Given the description of an element on the screen output the (x, y) to click on. 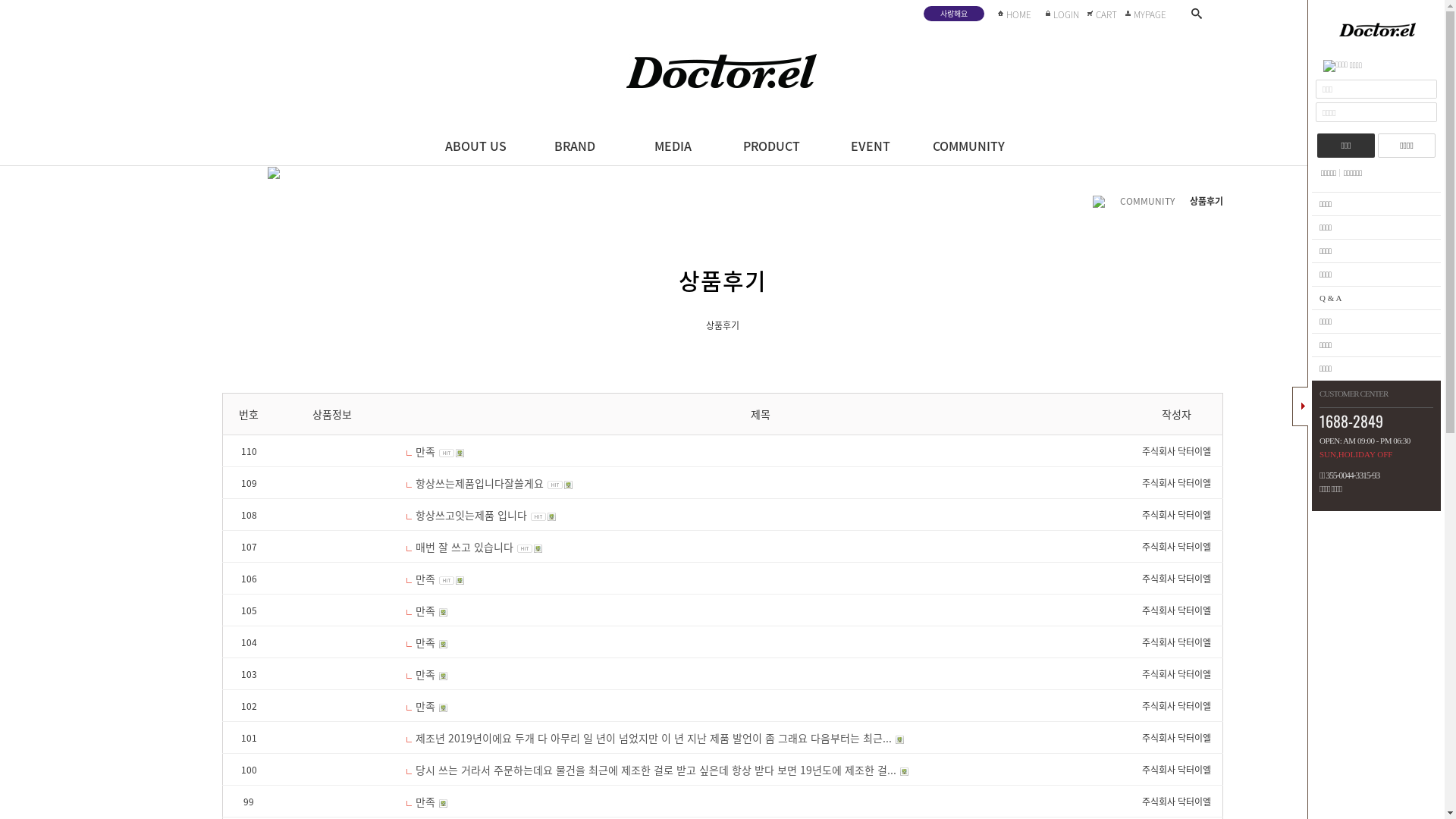
LOGIN Element type: text (1062, 13)
BRAND Element type: text (573, 144)
HOME Element type: text (1015, 13)
CART Element type: text (1103, 13)
MEDIA Element type: text (672, 144)
COMMUNITY Element type: text (968, 144)
ABOUT US Element type: text (475, 144)
PRODUCT Element type: text (770, 144)
Q & A Element type: text (1375, 298)
MYPAGE Element type: text (1146, 13)
EVENT Element type: text (869, 144)
